Given the description of an element on the screen output the (x, y) to click on. 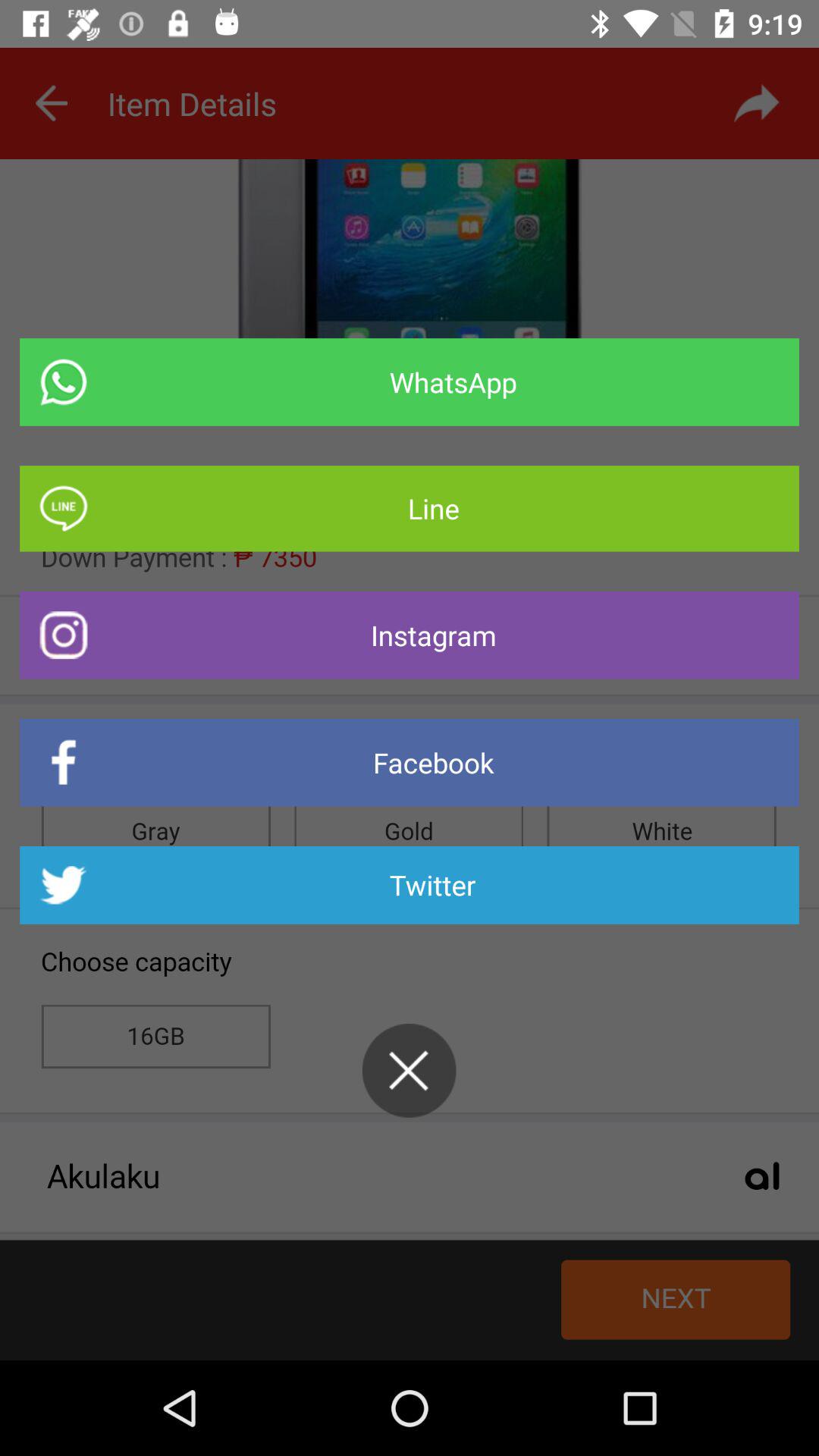
choose icon at the bottom (409, 1070)
